Given the description of an element on the screen output the (x, y) to click on. 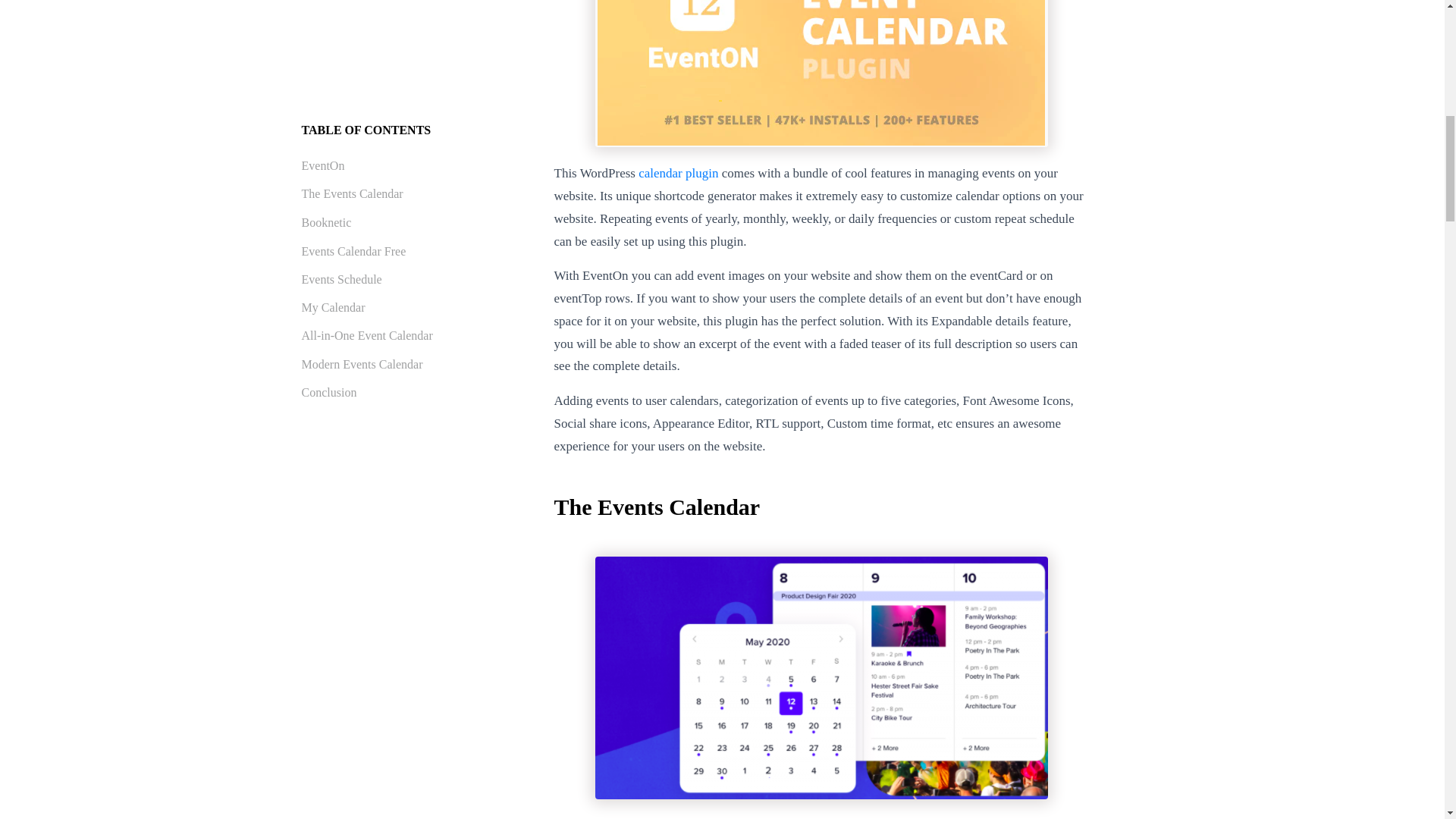
calendar plugin (678, 173)
